Given the description of an element on the screen output the (x, y) to click on. 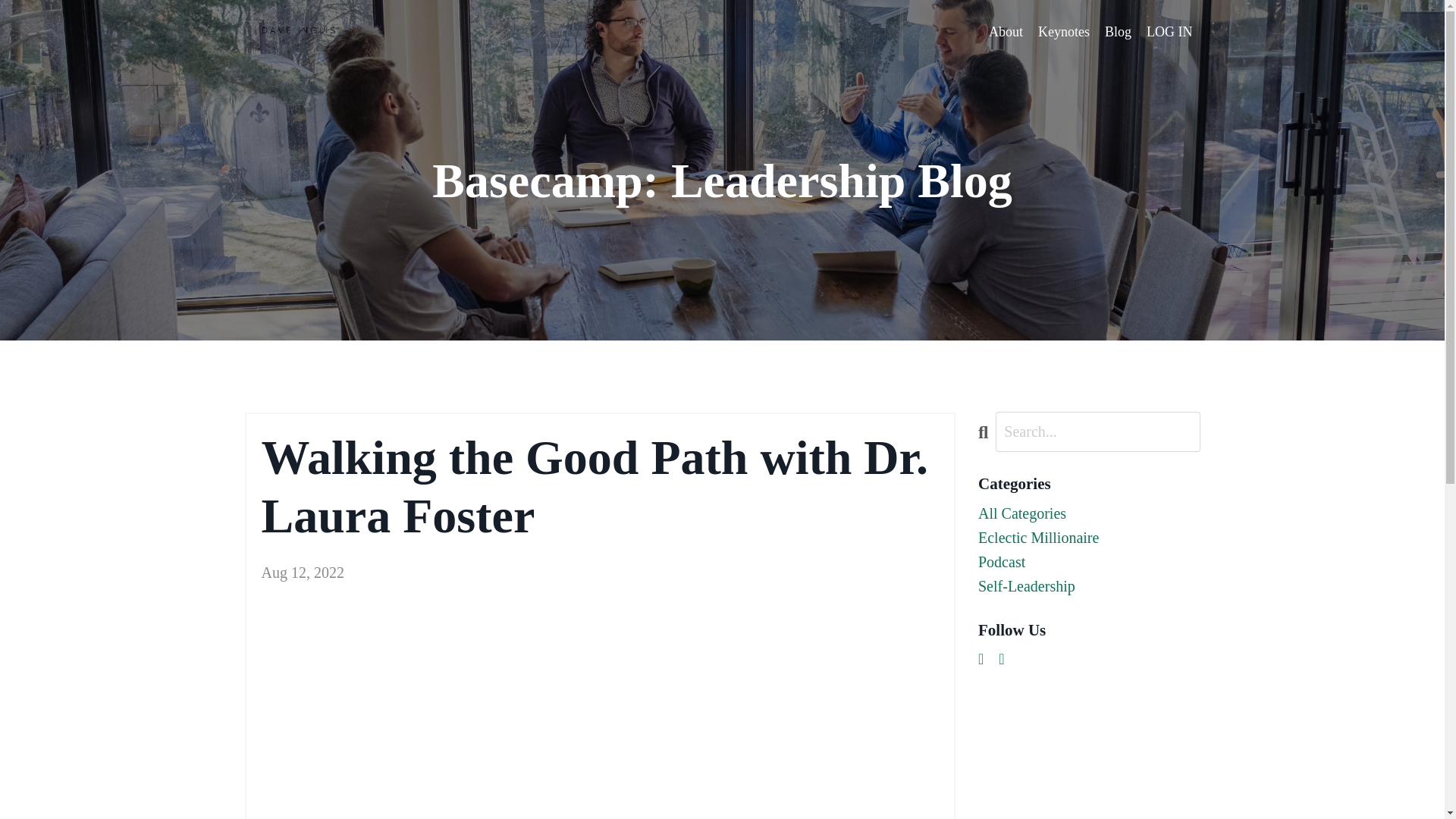
Podcast (1088, 561)
Eclectic Millionaire (1088, 537)
Self-Leadership (1088, 586)
Blog (1118, 32)
About (1005, 32)
LOG IN (1169, 31)
All Categories (1088, 513)
Keynotes (1063, 32)
